Given the description of an element on the screen output the (x, y) to click on. 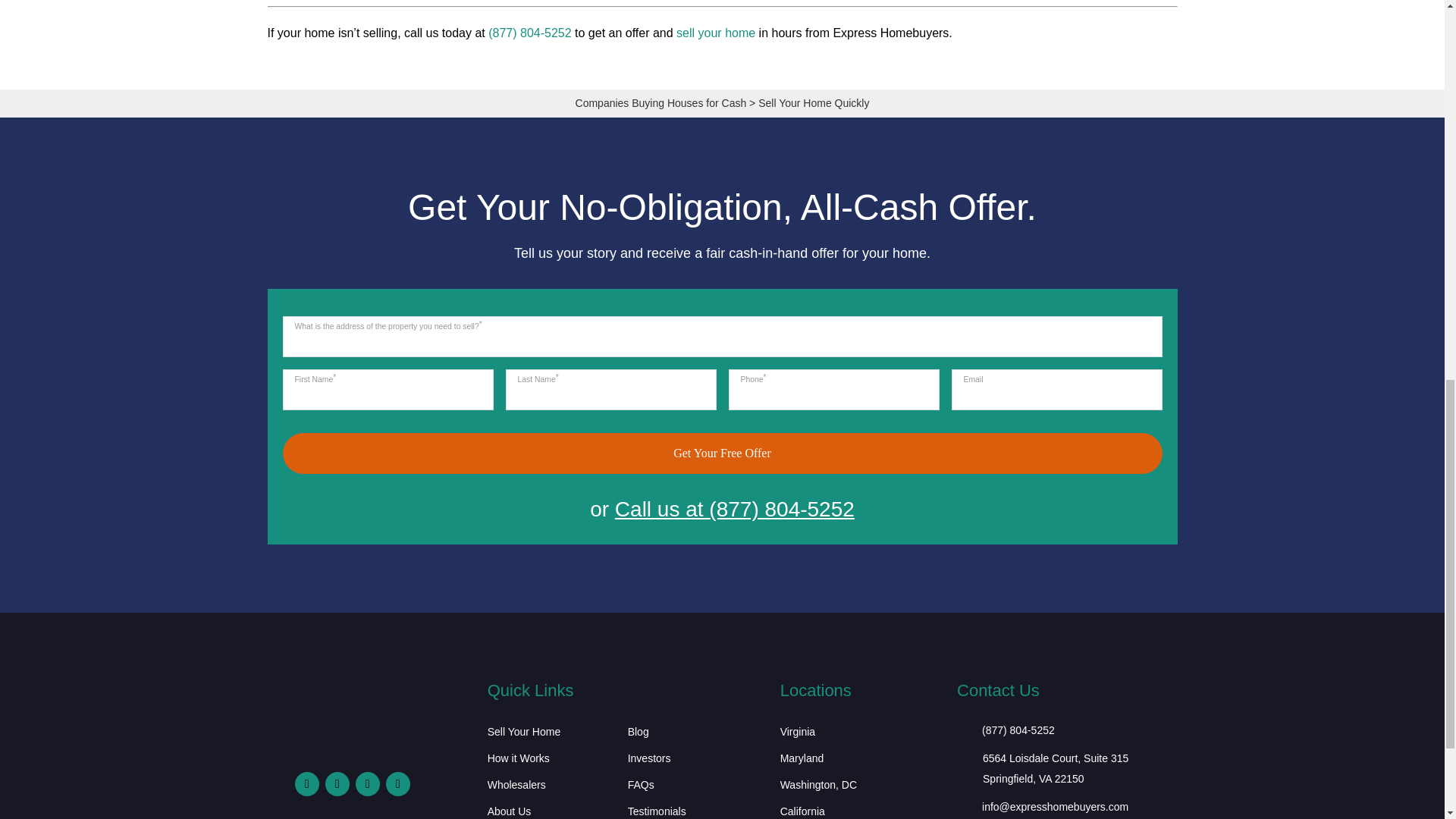
Companies Buying Houses for Cash (660, 102)
sell your home (716, 32)
Get Your Free Offer (721, 453)
Investors (649, 760)
Blog (638, 734)
buy my house for cash (348, 738)
Sell Your Home (523, 734)
Wholesalers (516, 787)
How it Works (518, 760)
Get Your Free Offer (721, 453)
